Given the description of an element on the screen output the (x, y) to click on. 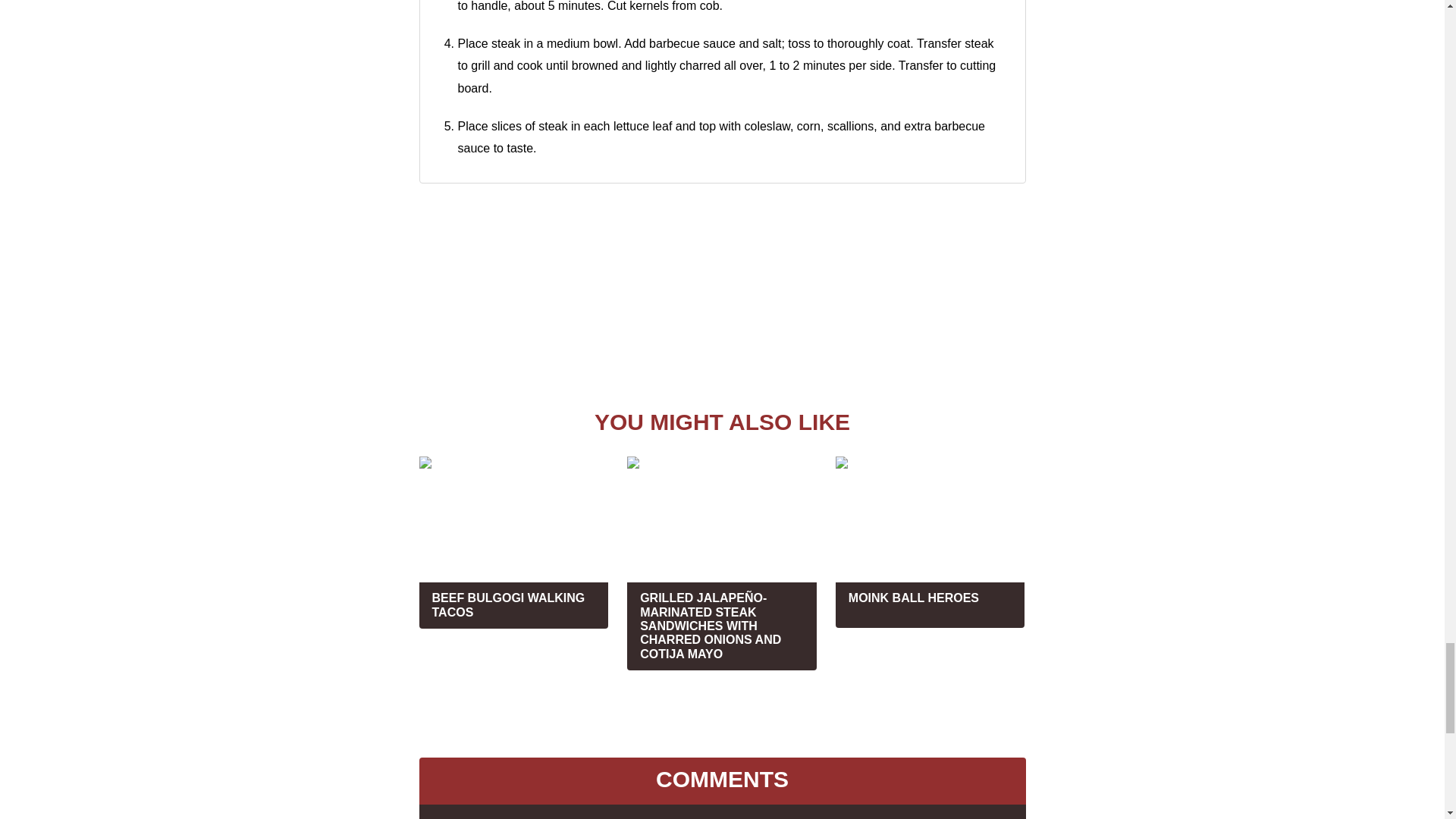
BEEF BULGOGI WALKING TACOS (513, 542)
MOINK BALL HEROES (930, 542)
